Given the description of an element on the screen output the (x, y) to click on. 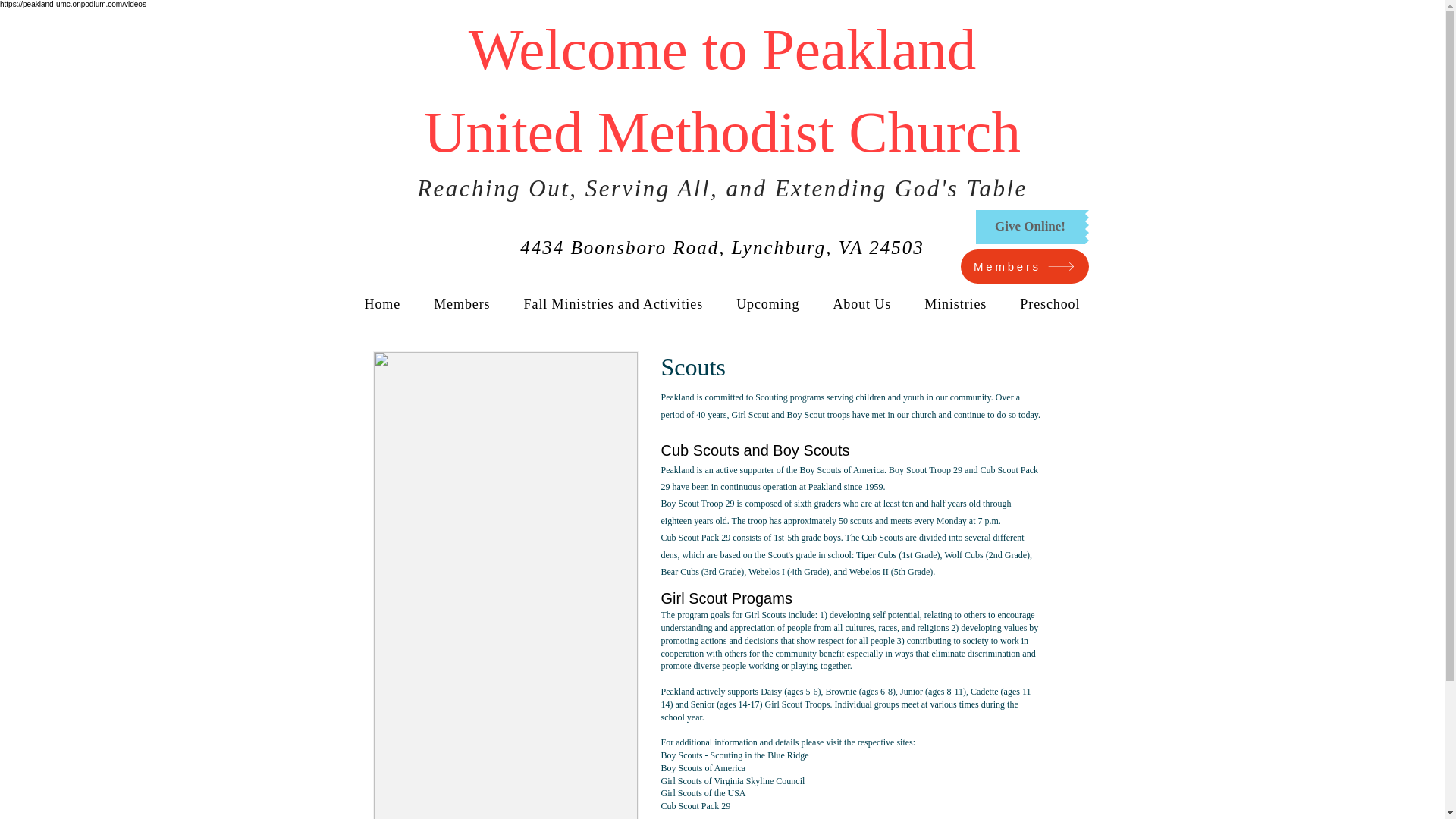
Members (1023, 266)
Preschool (1049, 304)
Give Online! (1029, 226)
About Us (861, 304)
Members (461, 304)
Fall Ministries and Activities (614, 304)
Upcoming (767, 304)
Home (381, 304)
Ministries (955, 304)
